Given the description of an element on the screen output the (x, y) to click on. 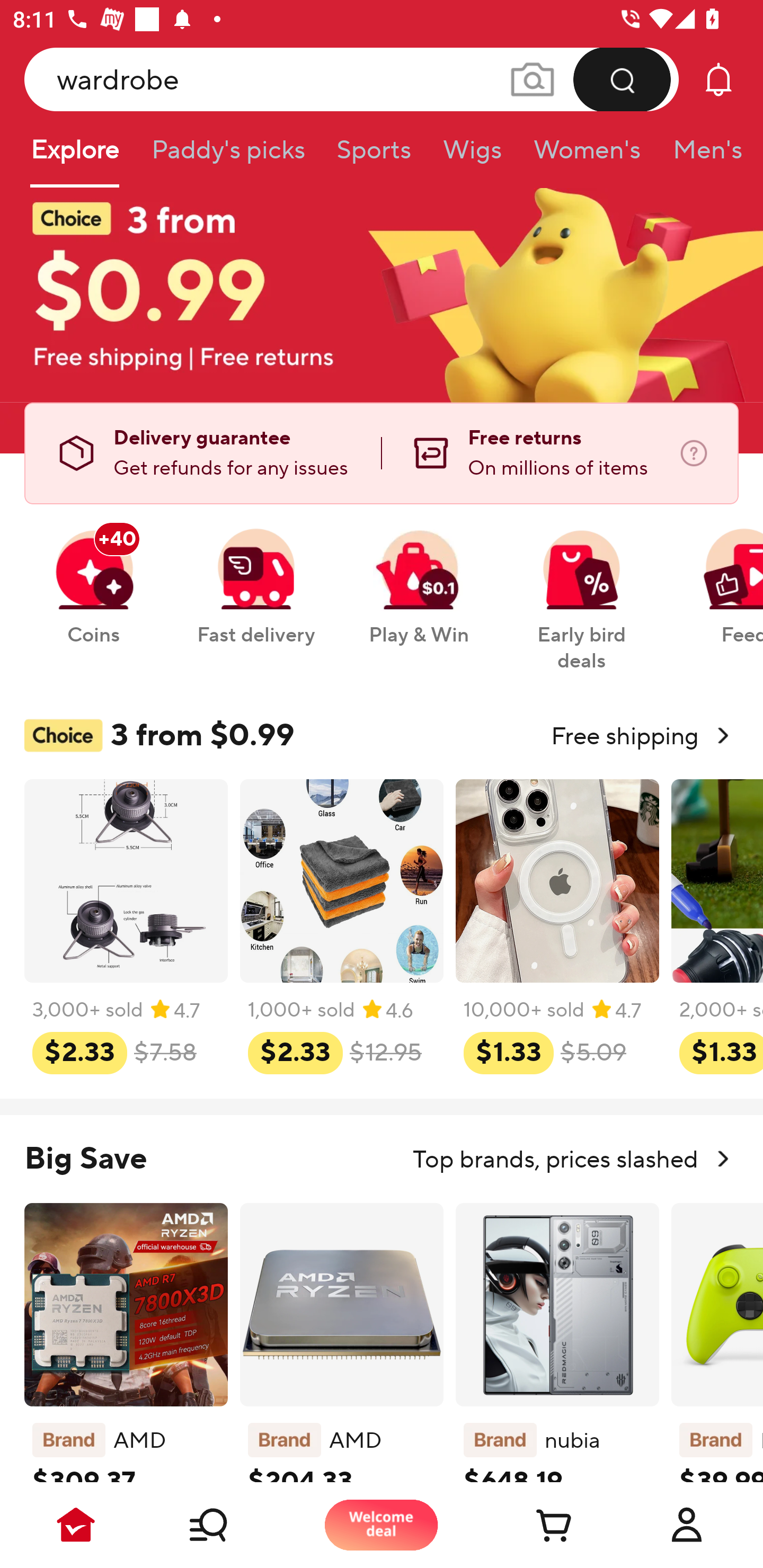
wardrobe (351, 79)
Paddy's picks (227, 155)
Sports (373, 155)
Wigs (472, 155)
Women's (586, 155)
Men's (701, 155)
Coinsbutton +40 Coins (93, 576)
Fast deliverybutton Fast delivery (255, 576)
Play & Winbutton Play & Win (418, 576)
Early bird dealsbutton Early bird deals (581, 589)
Feedbutton Feed (719, 576)
Shop (228, 1524)
Cart (533, 1524)
Account (686, 1524)
